Given the description of an element on the screen output the (x, y) to click on. 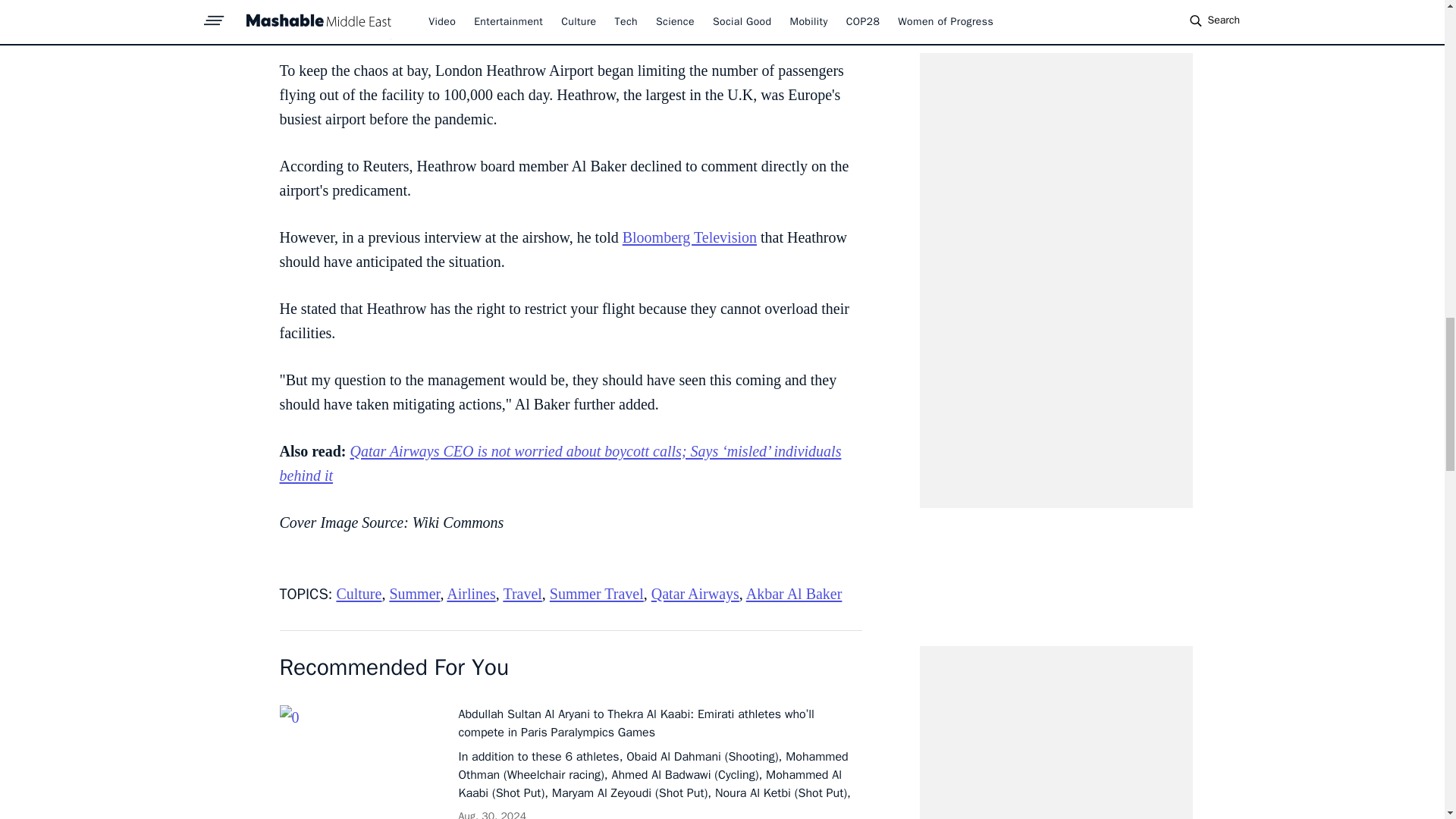
Travel (521, 593)
Summer Travel (596, 593)
Bloomberg Television (690, 237)
Culture (358, 593)
Summer (413, 593)
Akbar Al Baker (794, 593)
Qatar Airways (694, 593)
Airlines (470, 593)
